Given the description of an element on the screen output the (x, y) to click on. 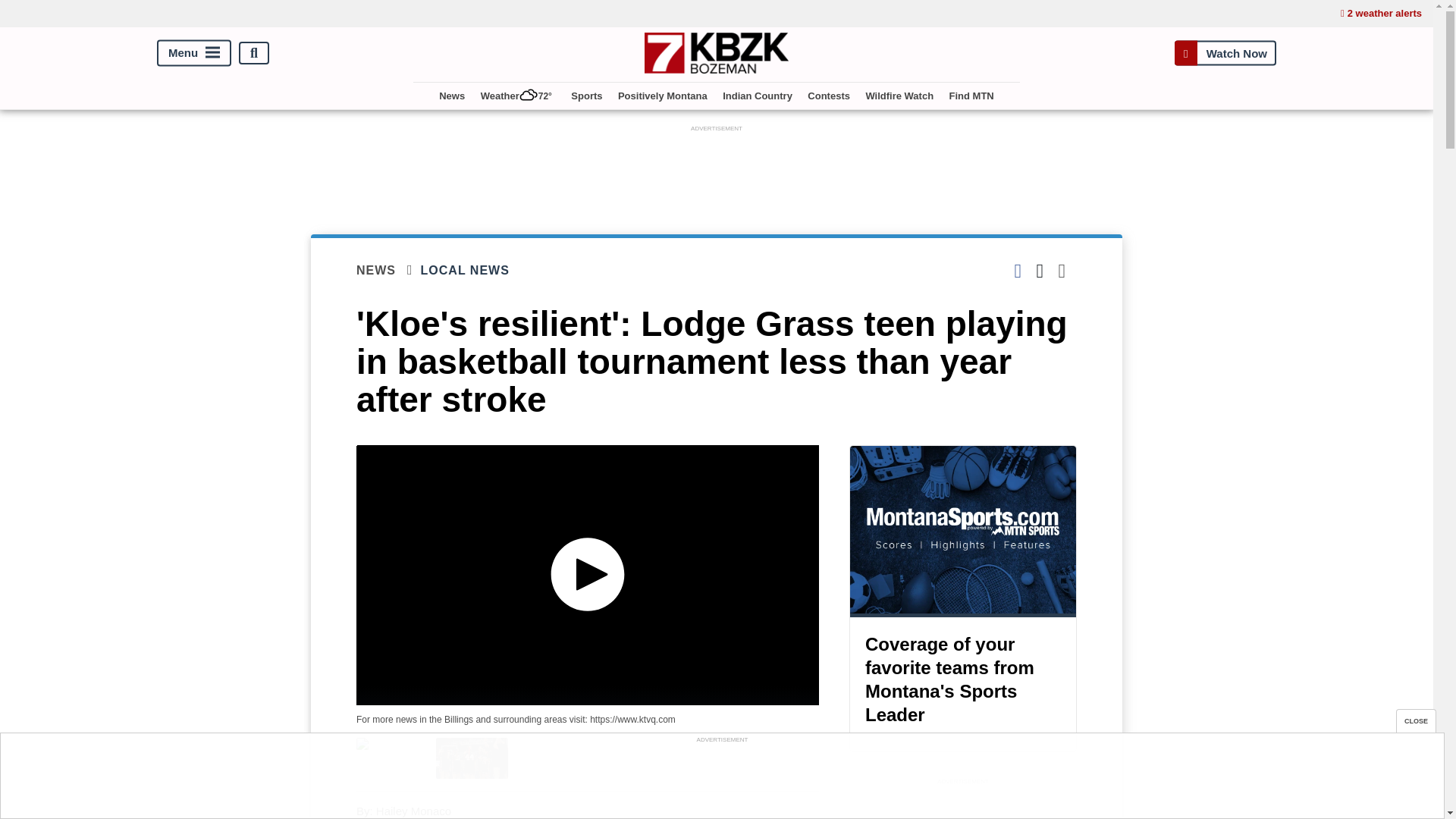
Menu (194, 53)
3rd party ad content (716, 169)
3rd party ad content (721, 780)
3rd party ad content (962, 803)
Watch Now (1224, 52)
